Given the description of an element on the screen output the (x, y) to click on. 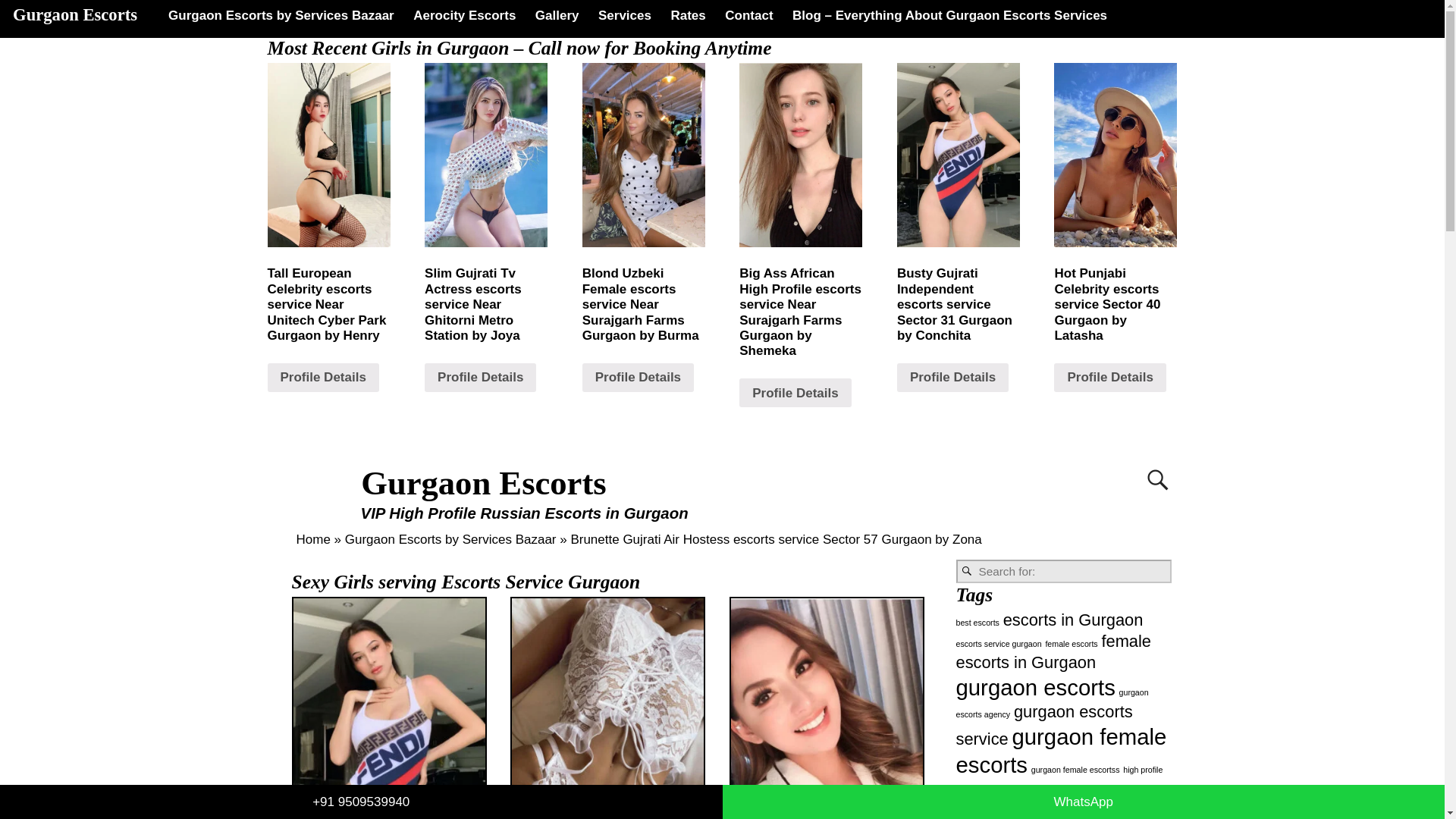
Gurgaon Escorts (483, 483)
Contact (749, 15)
Profile Details (794, 392)
Profile Details (1110, 377)
Home (312, 539)
Services (624, 15)
Rates (688, 15)
Profile Details (322, 377)
Aerocity Escorts (464, 15)
Profile Details (480, 377)
